Given the description of an element on the screen output the (x, y) to click on. 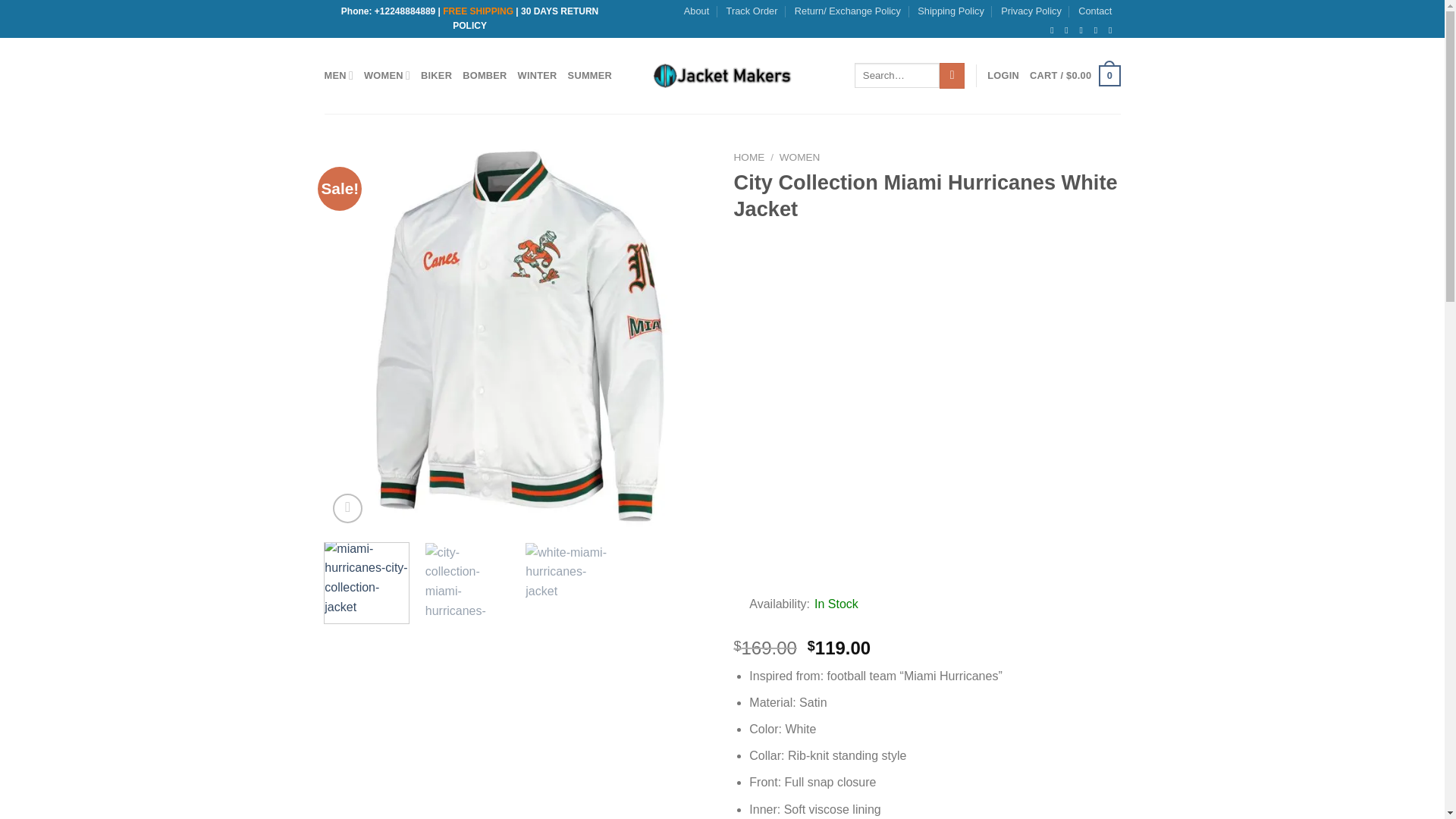
Track Order (751, 11)
Zoom (347, 508)
About (696, 11)
MEN (338, 75)
Shipping Policy (950, 11)
Contact (1095, 11)
Cart (1074, 75)
